Given the description of an element on the screen output the (x, y) to click on. 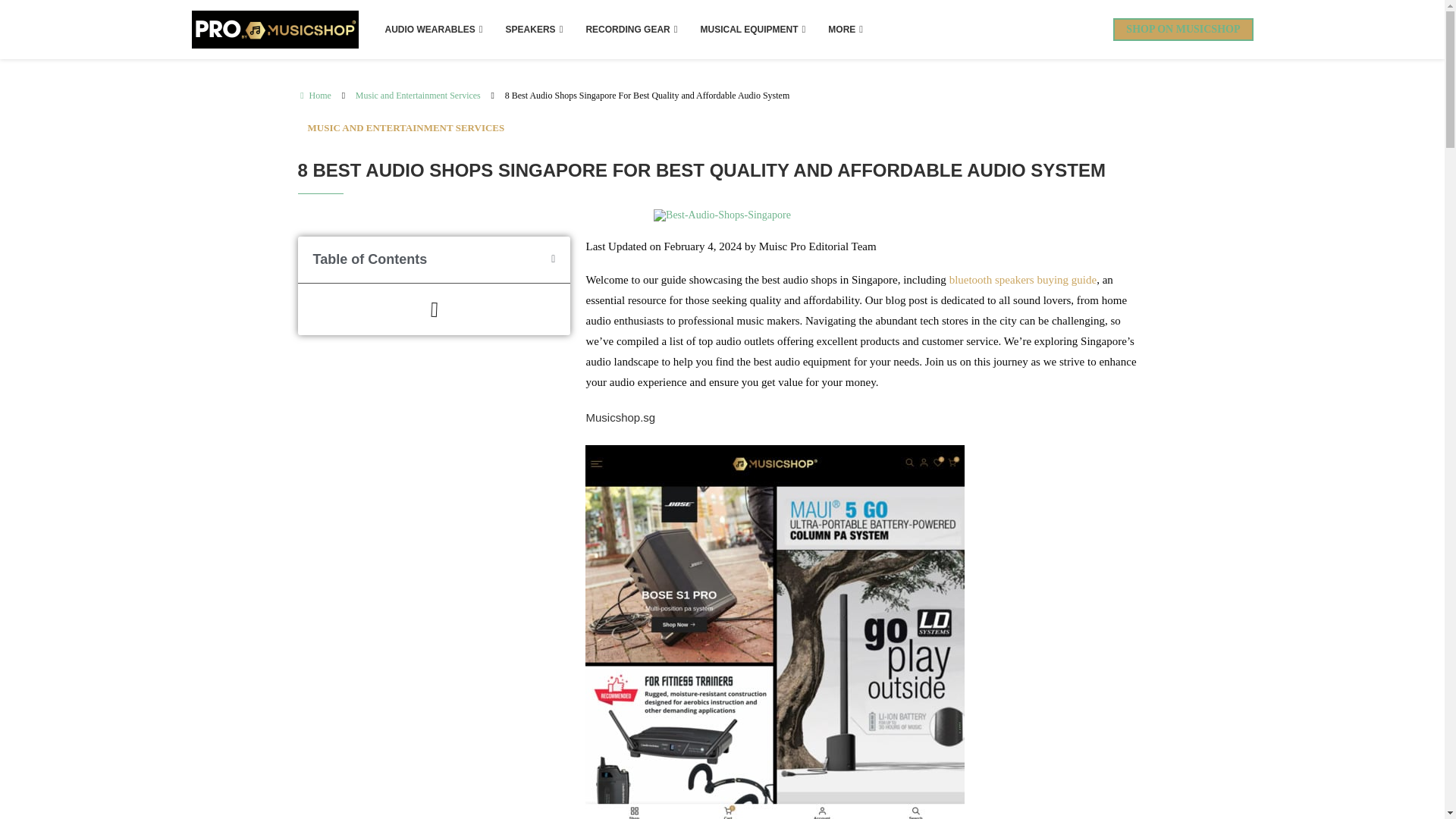
Best-Audio-Shops-Singapore (721, 215)
SPEAKERS (535, 29)
AUDIO WEARABLES (432, 29)
Home (313, 95)
